Given the description of an element on the screen output the (x, y) to click on. 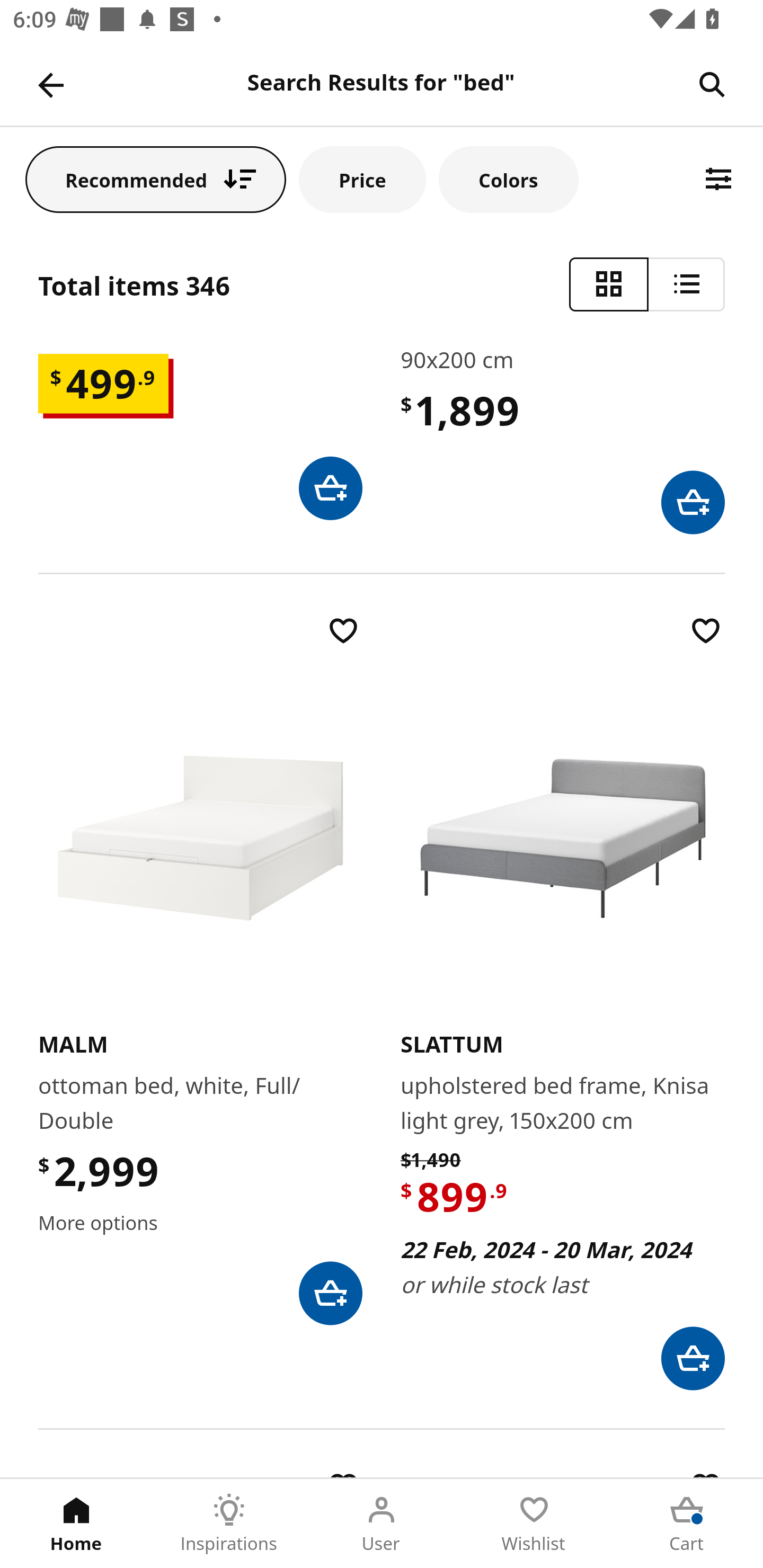
Recommended (155, 179)
Price (362, 179)
Colors (508, 179)
Home
Tab 1 of 5 (76, 1522)
Inspirations
Tab 2 of 5 (228, 1522)
User
Tab 3 of 5 (381, 1522)
Wishlist
Tab 4 of 5 (533, 1522)
Cart
Tab 5 of 5 (686, 1522)
